Given the description of an element on the screen output the (x, y) to click on. 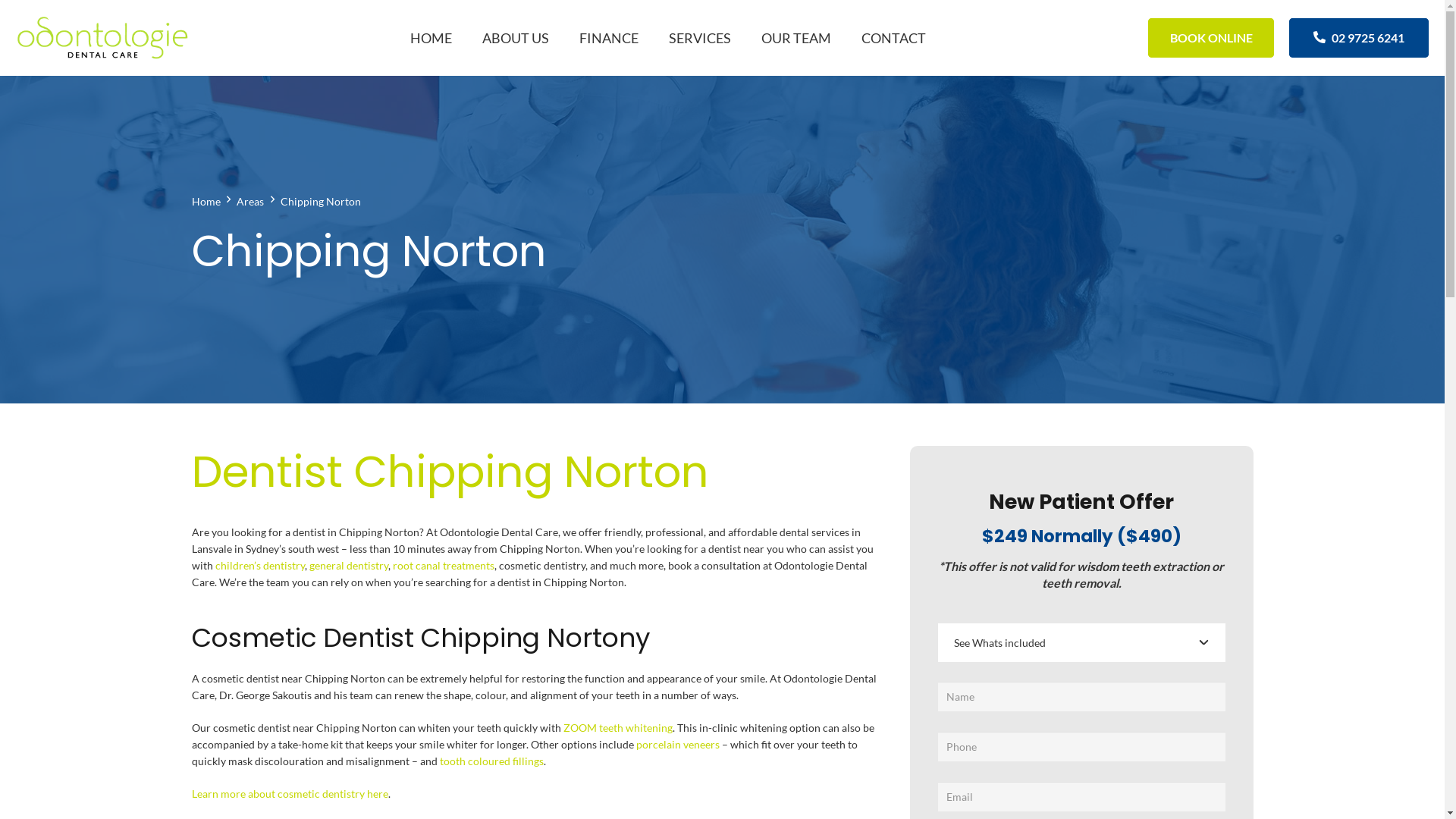
Chipping Norton Element type: text (320, 200)
tooth coloured fillings Element type: text (491, 760)
ABOUT US Element type: text (515, 37)
Learn more about cosmetic dentistry here Element type: text (289, 793)
FINANCE Element type: text (608, 37)
02 9725 6241 Element type: text (1358, 37)
SERVICES Element type: text (699, 37)
See Whats included Element type: text (1081, 642)
ZOOM teeth whitening Element type: text (616, 727)
root canal treatments Element type: text (443, 564)
HOME Element type: text (431, 37)
Areas Element type: text (249, 200)
general dentistry Element type: text (348, 564)
porcelain veneers Element type: text (676, 743)
CONTACT Element type: text (893, 37)
BOOK ONLINE Element type: text (1211, 37)
OUR TEAM Element type: text (796, 37)
Home Element type: text (205, 200)
